Given the description of an element on the screen output the (x, y) to click on. 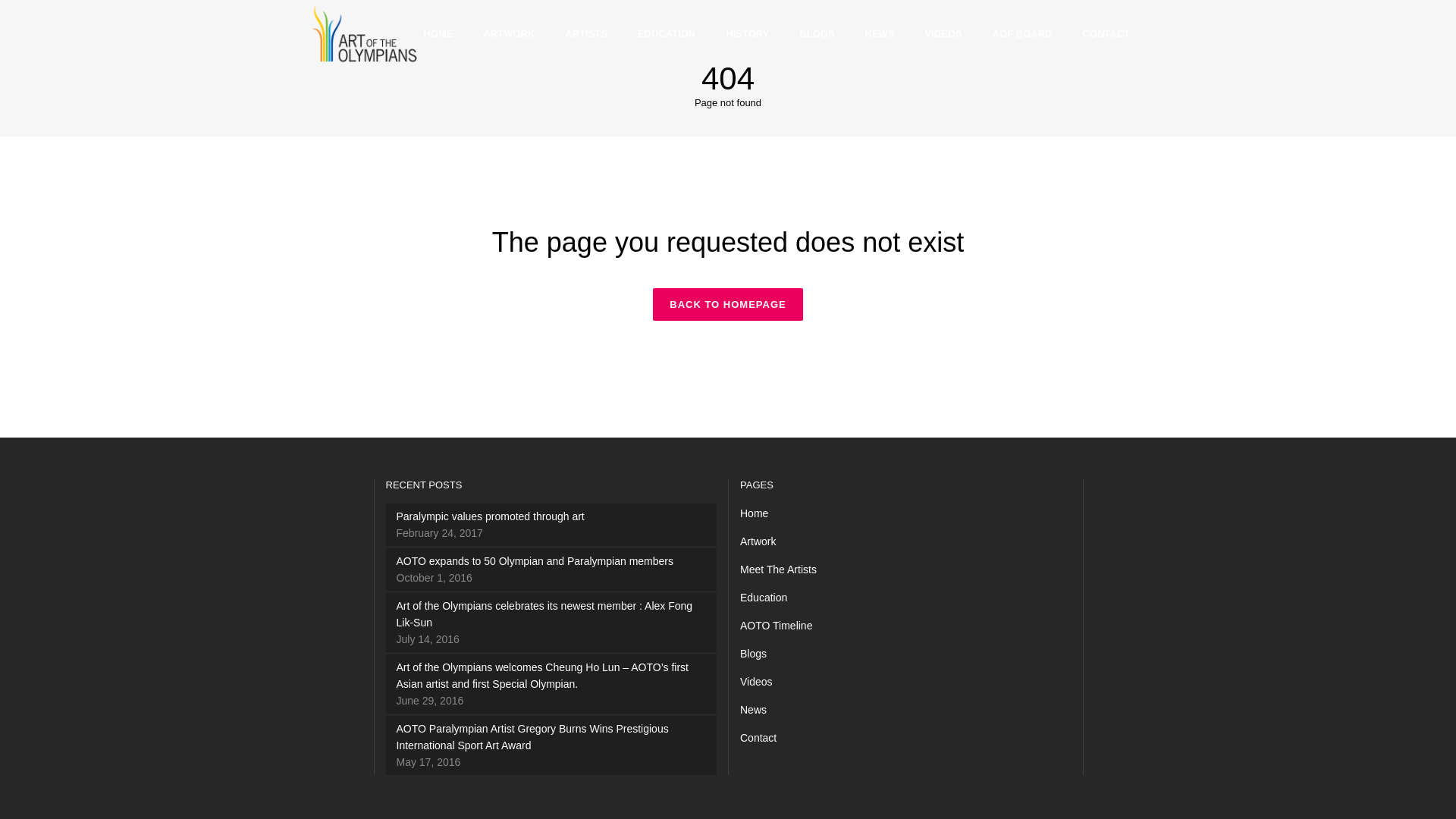
ARTWORK (508, 33)
ARTISTS (586, 33)
